Given the description of an element on the screen output the (x, y) to click on. 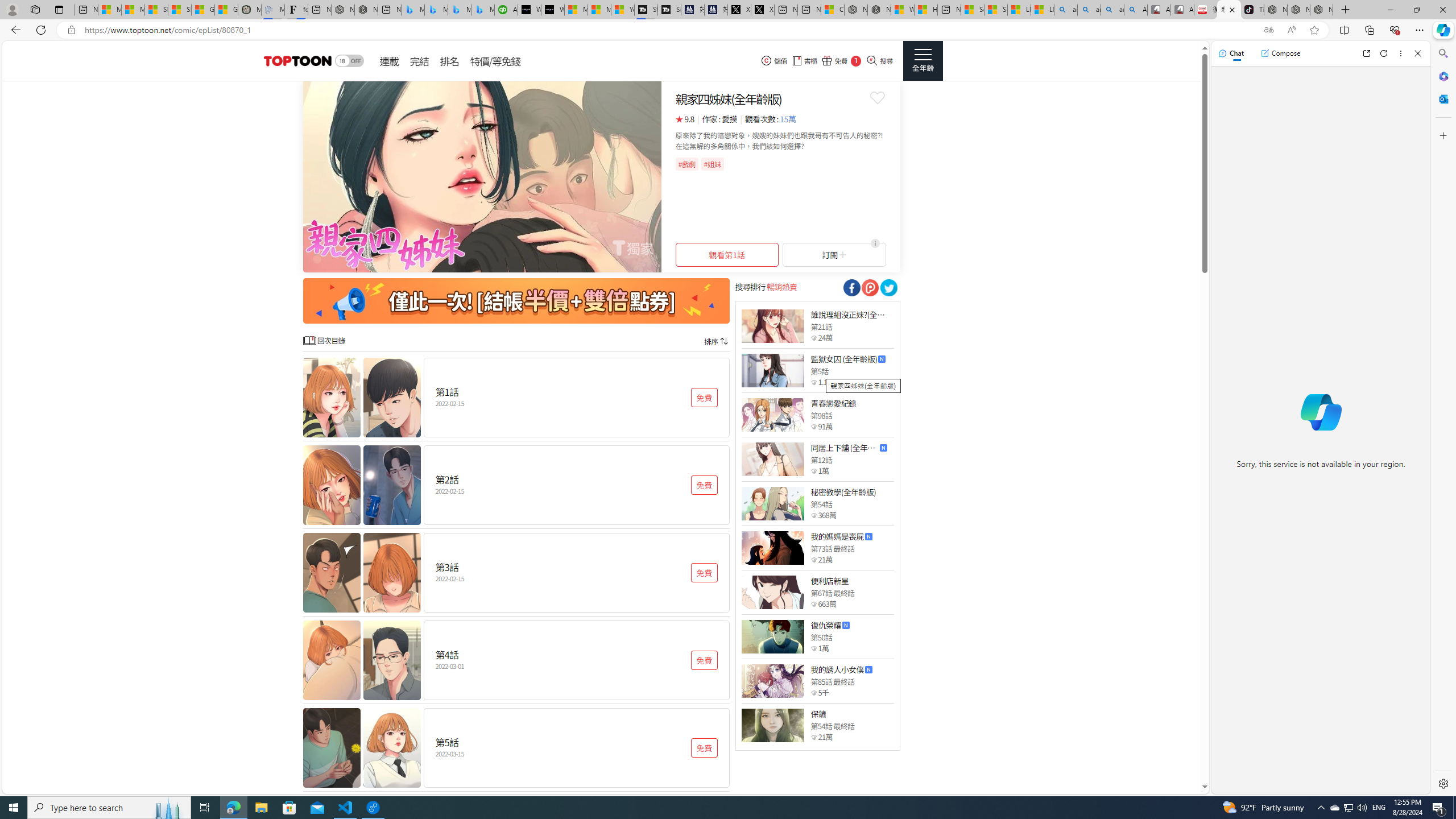
Microsoft Start Sports (575, 9)
Side bar (1443, 418)
Settings (1442, 783)
amazon - Search Images (1112, 9)
Accounting Software for Accountants, CPAs and Bookkeepers (505, 9)
Chat (1231, 52)
